Given the description of an element on the screen output the (x, y) to click on. 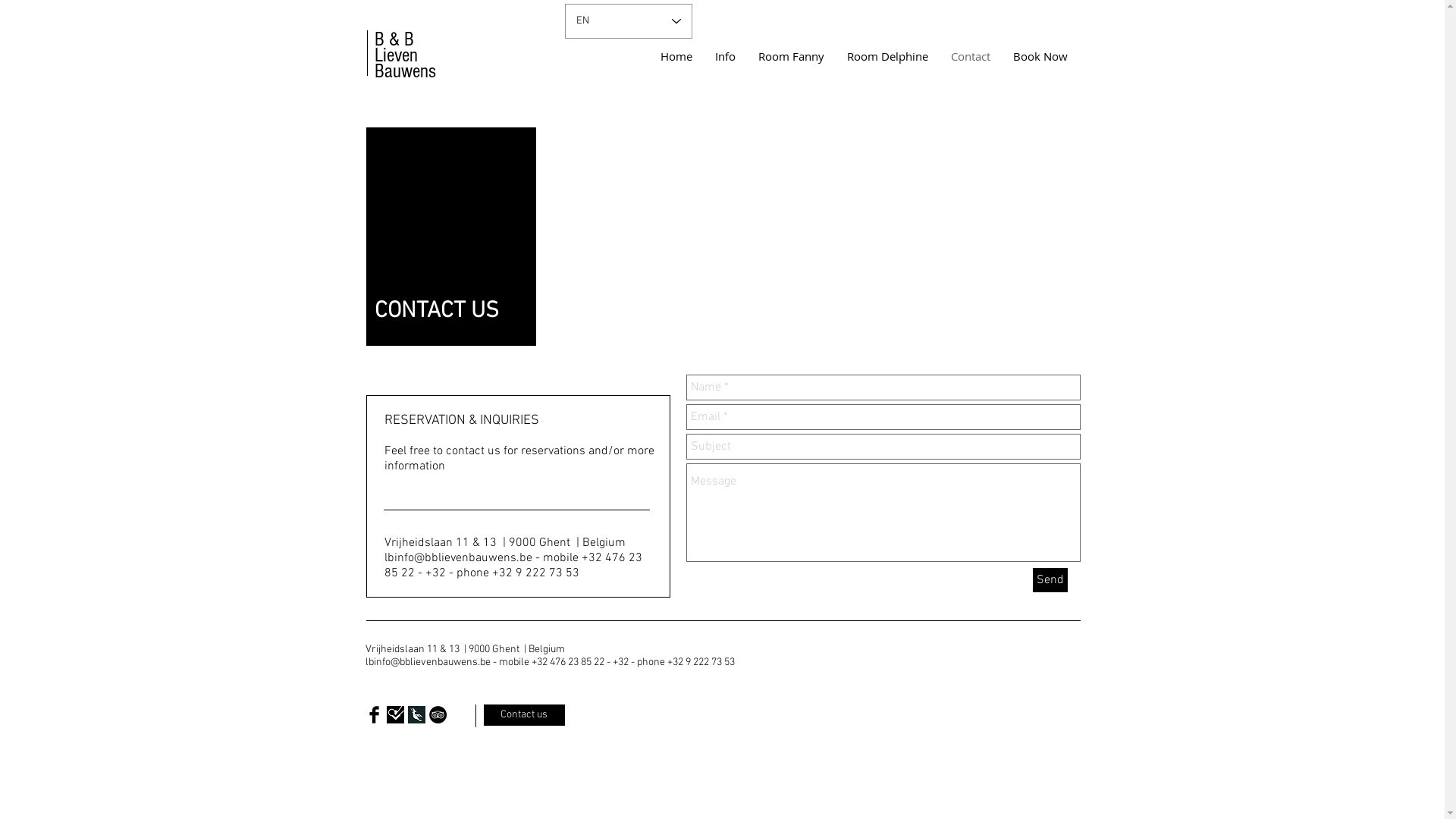
Google Maps Element type: hover (814, 242)
Room Fanny Element type: text (790, 55)
Book Now Element type: text (1039, 55)
Contact us Element type: text (523, 714)
Contact Element type: text (969, 55)
Home Element type: text (676, 55)
Room Delphine Element type: text (887, 55)
Send Element type: text (1049, 579)
Info Element type: text (724, 55)
